Given the description of an element on the screen output the (x, y) to click on. 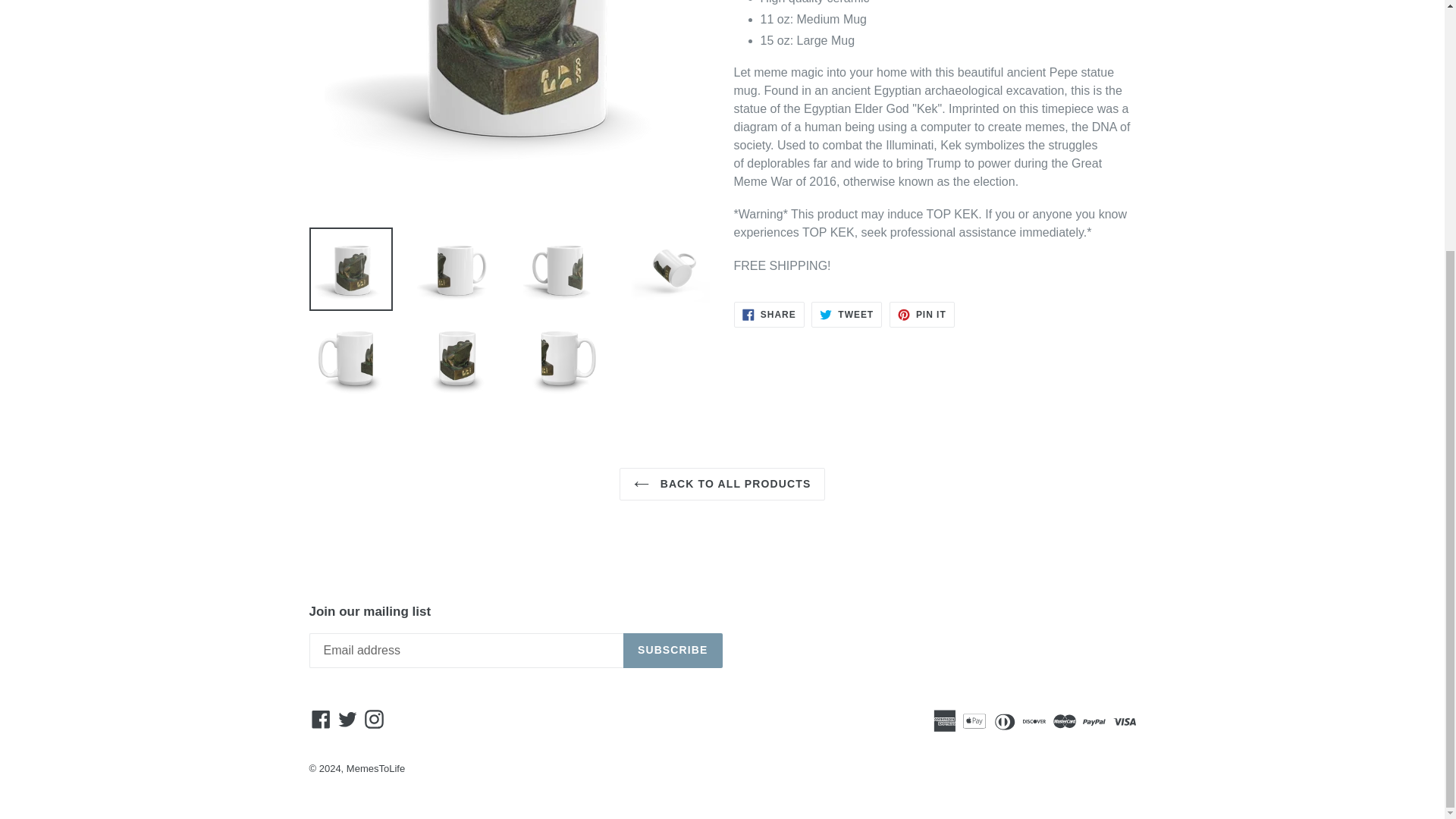
Instagram (373, 719)
MemesToLife on Facebook (846, 314)
Tweet on Twitter (320, 719)
Pin on Pinterest (846, 314)
Twitter (769, 314)
MemesToLife (922, 314)
SUBSCRIBE (347, 719)
MemesToLife on Twitter (375, 767)
